Given the description of an element on the screen output the (x, y) to click on. 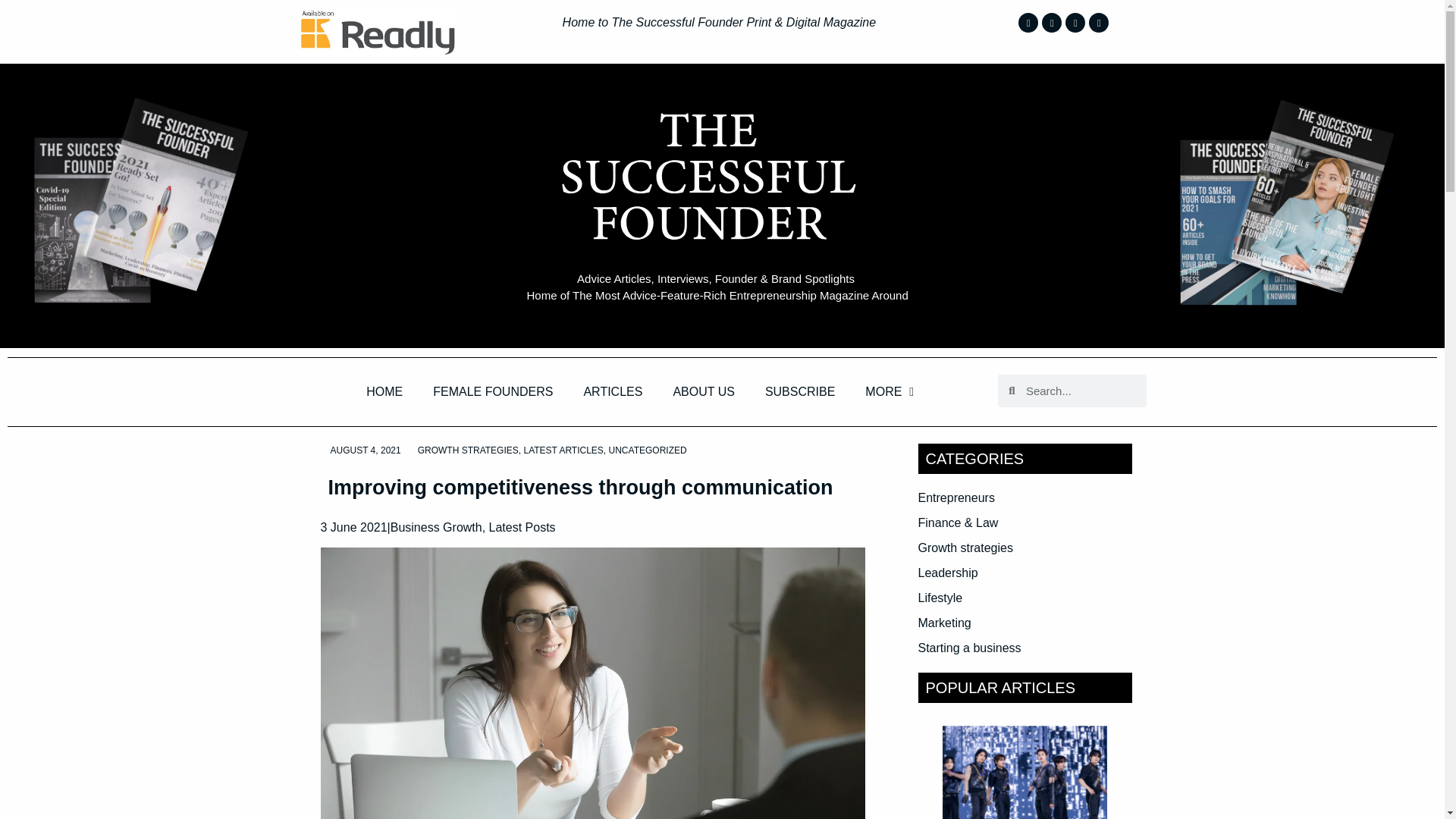
FEMALE FOUNDERS (492, 391)
SUBSCRIBE (799, 391)
HOME (383, 391)
ARTICLES (612, 391)
GROWTH STRATEGIES (467, 450)
ABOUT US (703, 391)
LATEST ARTICLES (562, 450)
UNCATEGORIZED (647, 450)
MORE (889, 391)
